Given the description of an element on the screen output the (x, y) to click on. 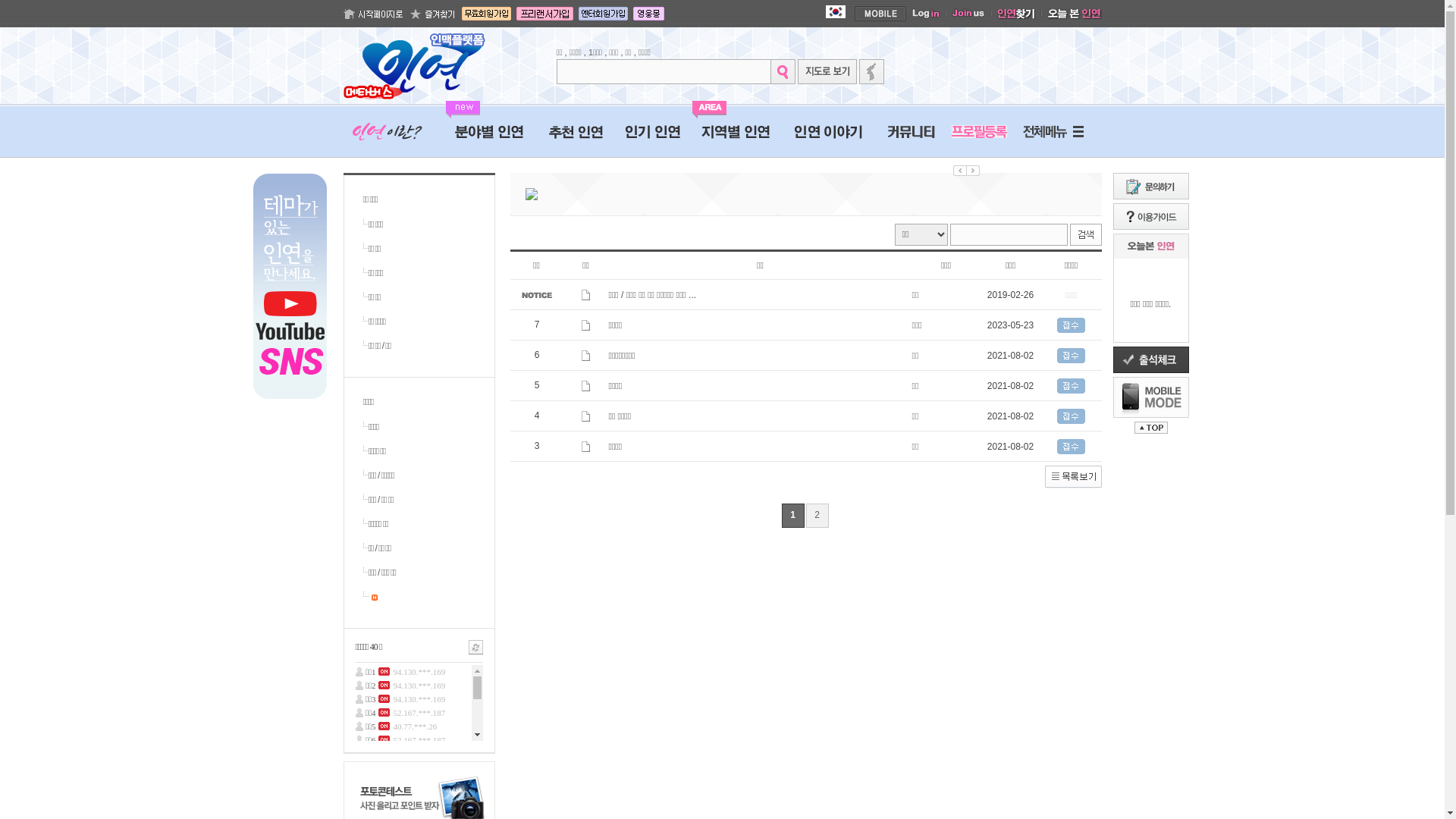
1 Element type: text (792, 515)
  Element type: text (373, 596)
2 Element type: text (817, 515)
